Given the description of an element on the screen output the (x, y) to click on. 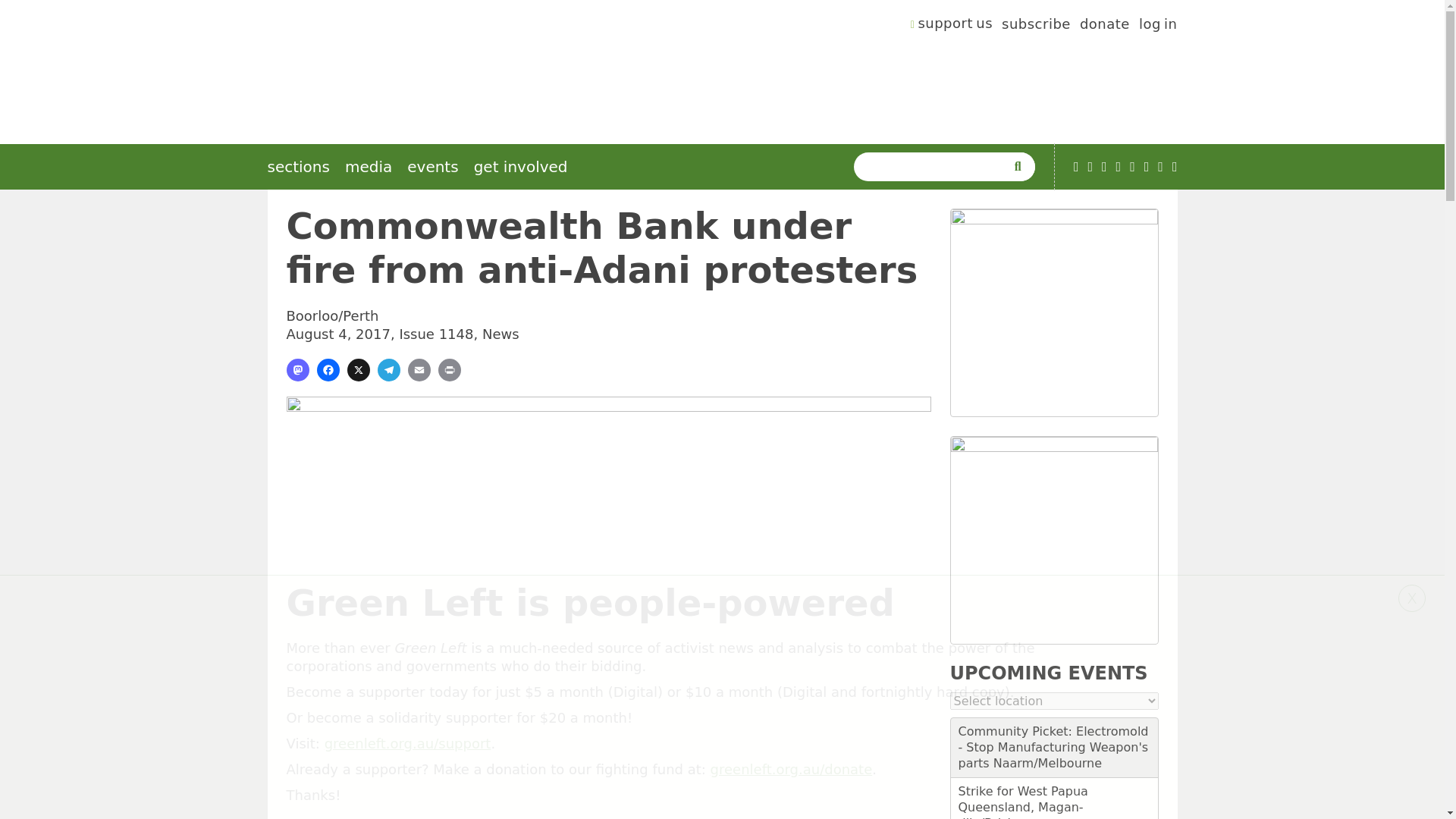
events (432, 166)
log in (1157, 26)
share via email (418, 369)
Share on Mastondon (297, 369)
Share on X (358, 369)
Share on Telegram (388, 369)
donate (1104, 26)
subscribe (1035, 26)
support us (951, 26)
Print (449, 369)
